Given the description of an element on the screen output the (x, y) to click on. 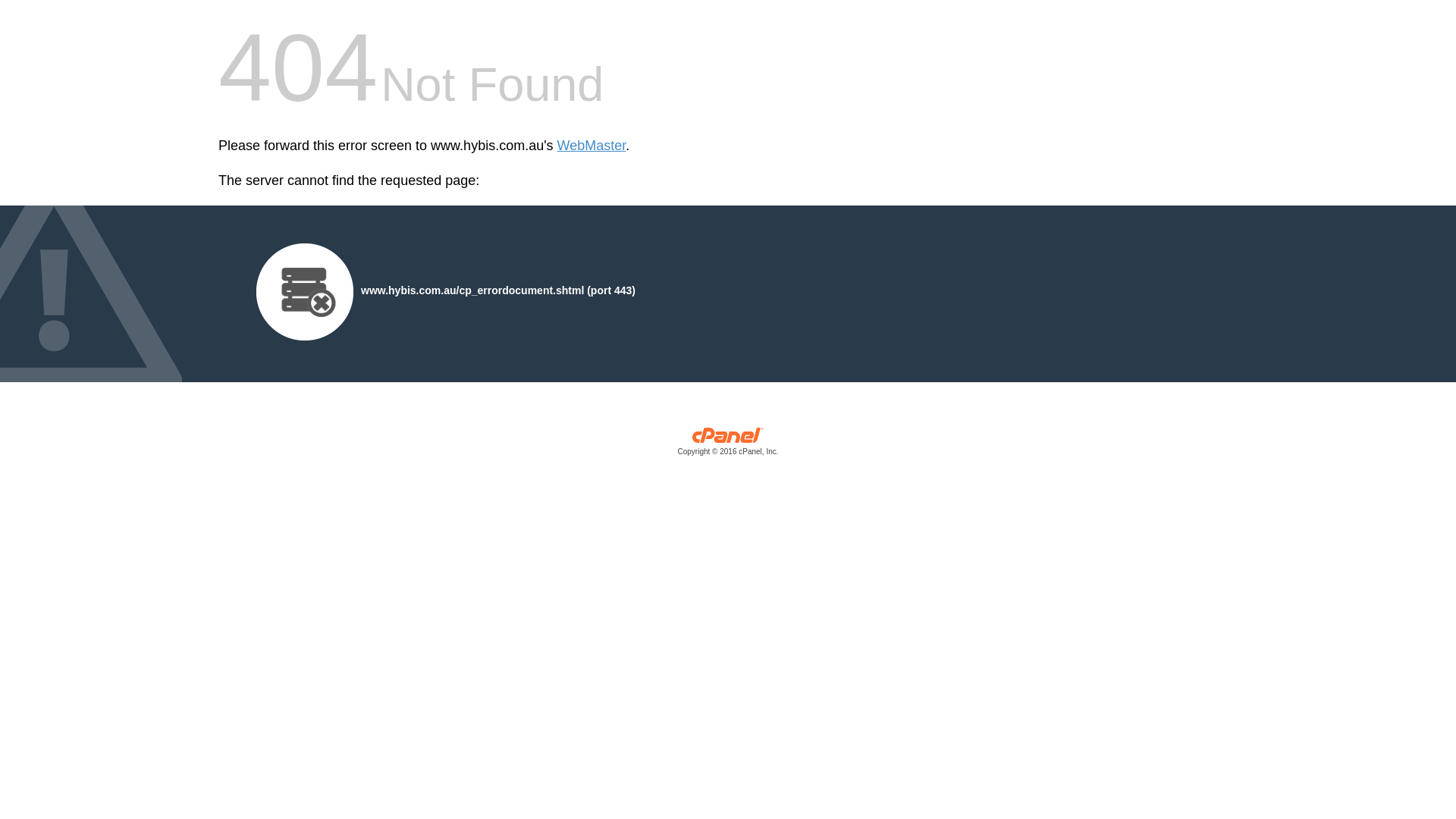
WebMaster Element type: text (591, 145)
